Given the description of an element on the screen output the (x, y) to click on. 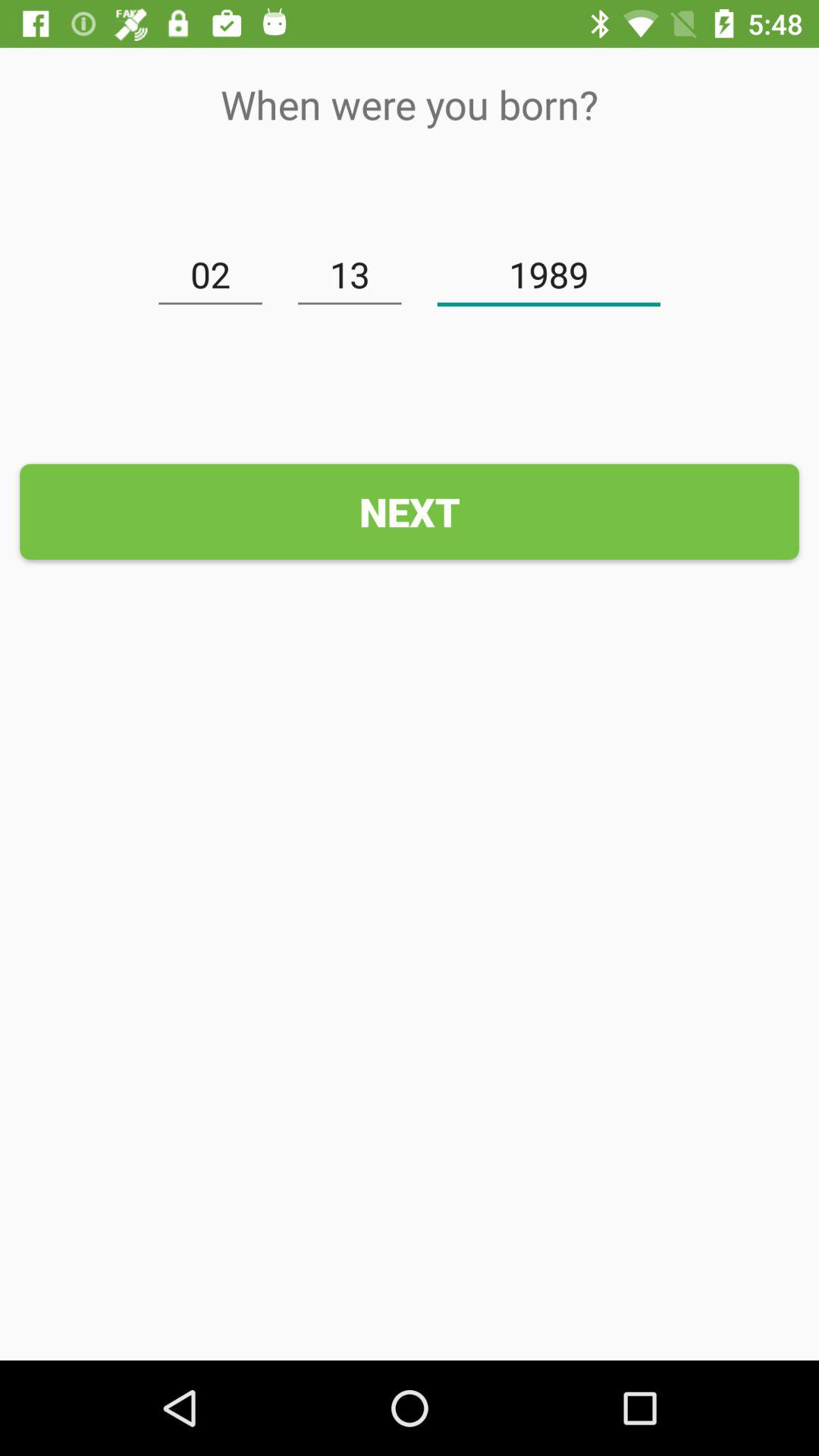
turn off the next icon (409, 511)
